Given the description of an element on the screen output the (x, y) to click on. 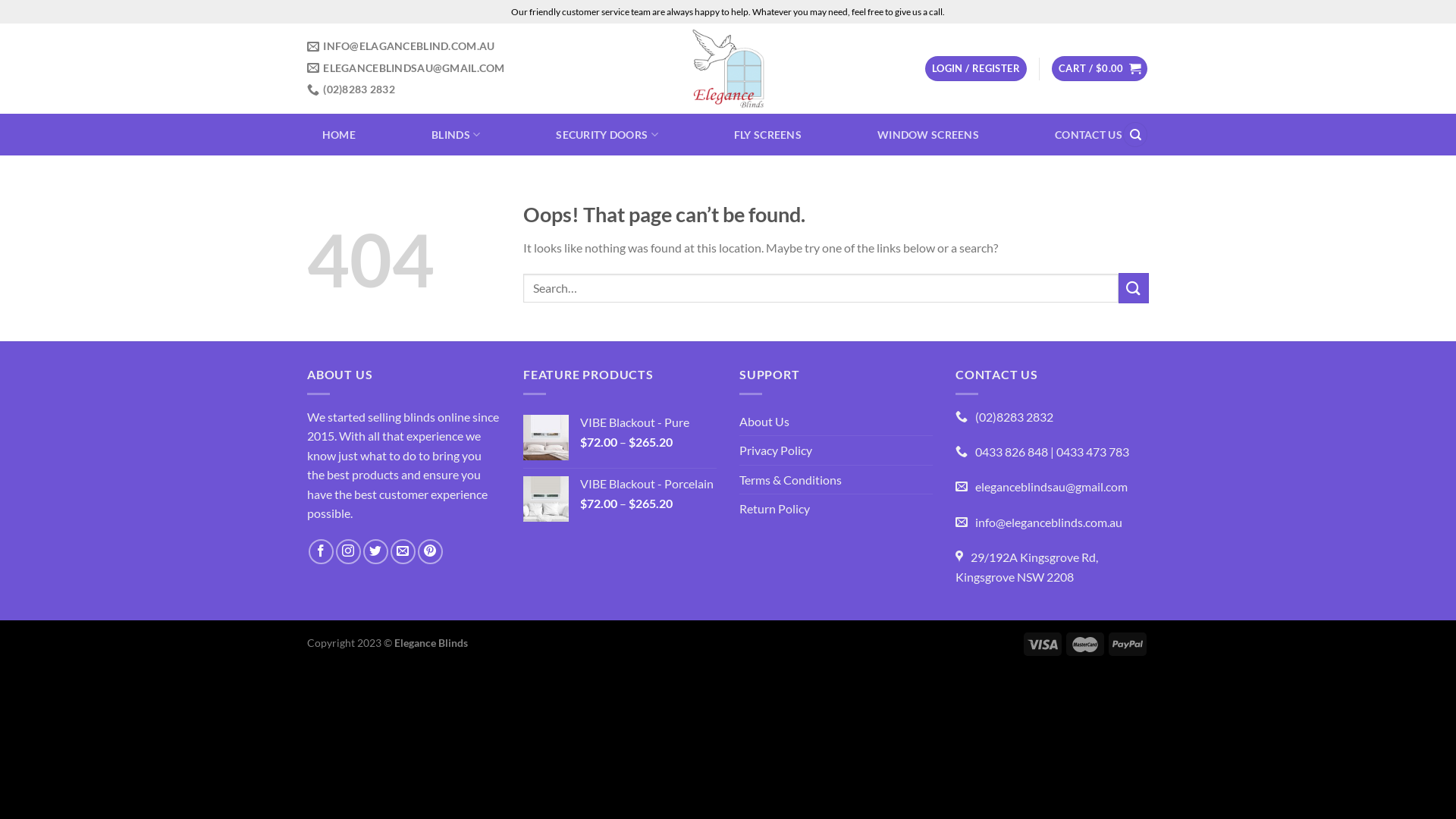
CART / $0.00 Element type: text (1099, 68)
LOGIN / REGISTER Element type: text (975, 68)
ELEGANCEBLINDSAU@GMAIL.COM Element type: text (406, 68)
CONTACT US Element type: text (1088, 134)
Return Policy Element type: text (774, 508)
(02)8283 2832 Element type: text (351, 89)
Elegance Blinds Element type: hover (727, 68)
VIBE Blackout - Pure Element type: text (648, 422)
BLINDS Element type: text (455, 134)
VIBE Blackout - Porcelain Element type: text (648, 484)
About Us Element type: text (764, 421)
FLY SCREENS Element type: text (767, 134)
WINDOW SCREENS Element type: text (928, 134)
INFO@ELAGANCEBLIND.COM.AU Element type: text (400, 46)
Privacy Policy Element type: text (775, 450)
HOME Element type: text (338, 134)
SECURITY DOORS Element type: text (606, 134)
Terms & Conditions Element type: text (790, 479)
